Given the description of an element on the screen output the (x, y) to click on. 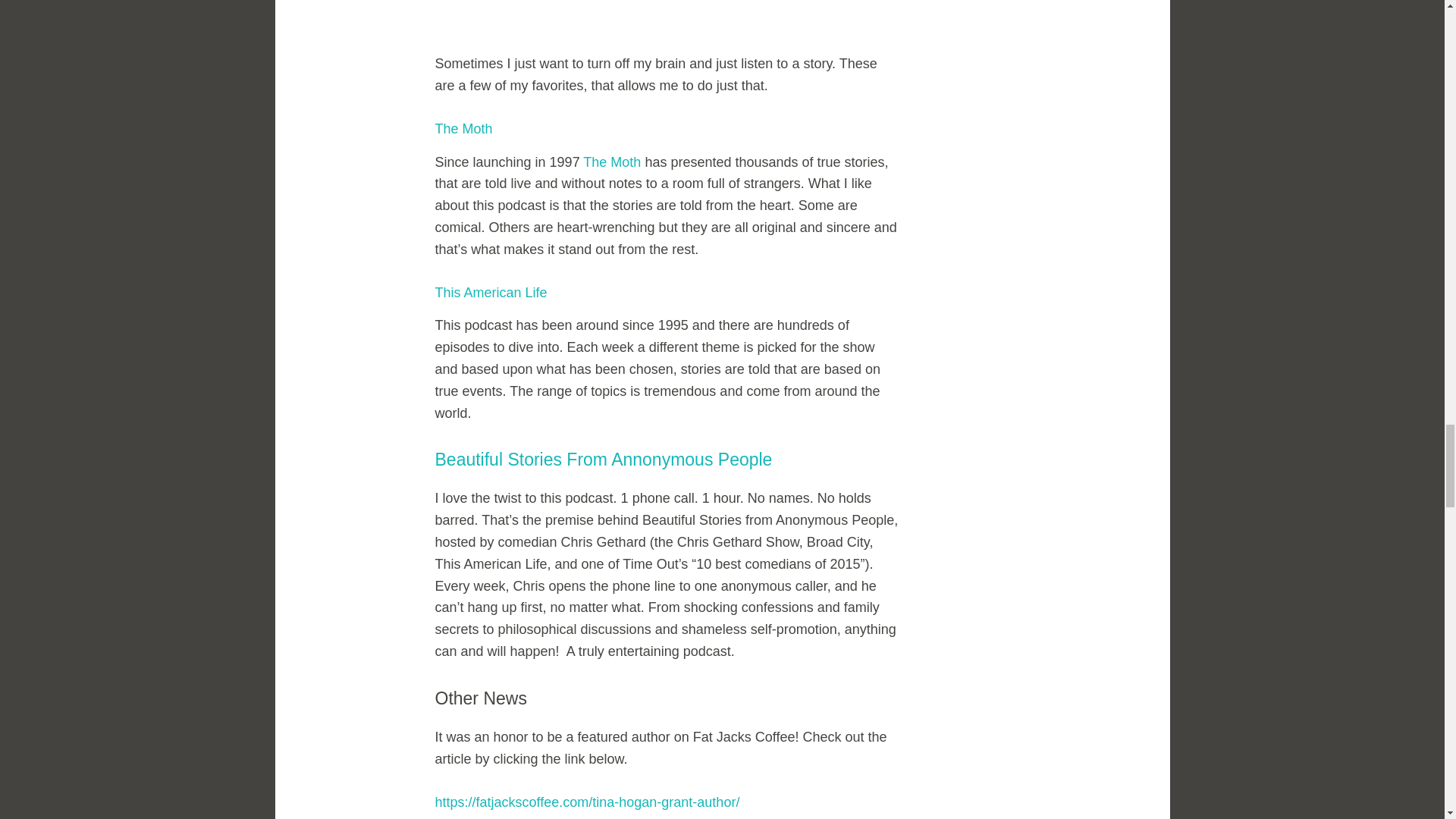
The Moth (464, 128)
Beautiful Stories From Annonymous People (604, 459)
The Moth (611, 161)
This American Life (491, 292)
